Given the description of an element on the screen output the (x, y) to click on. 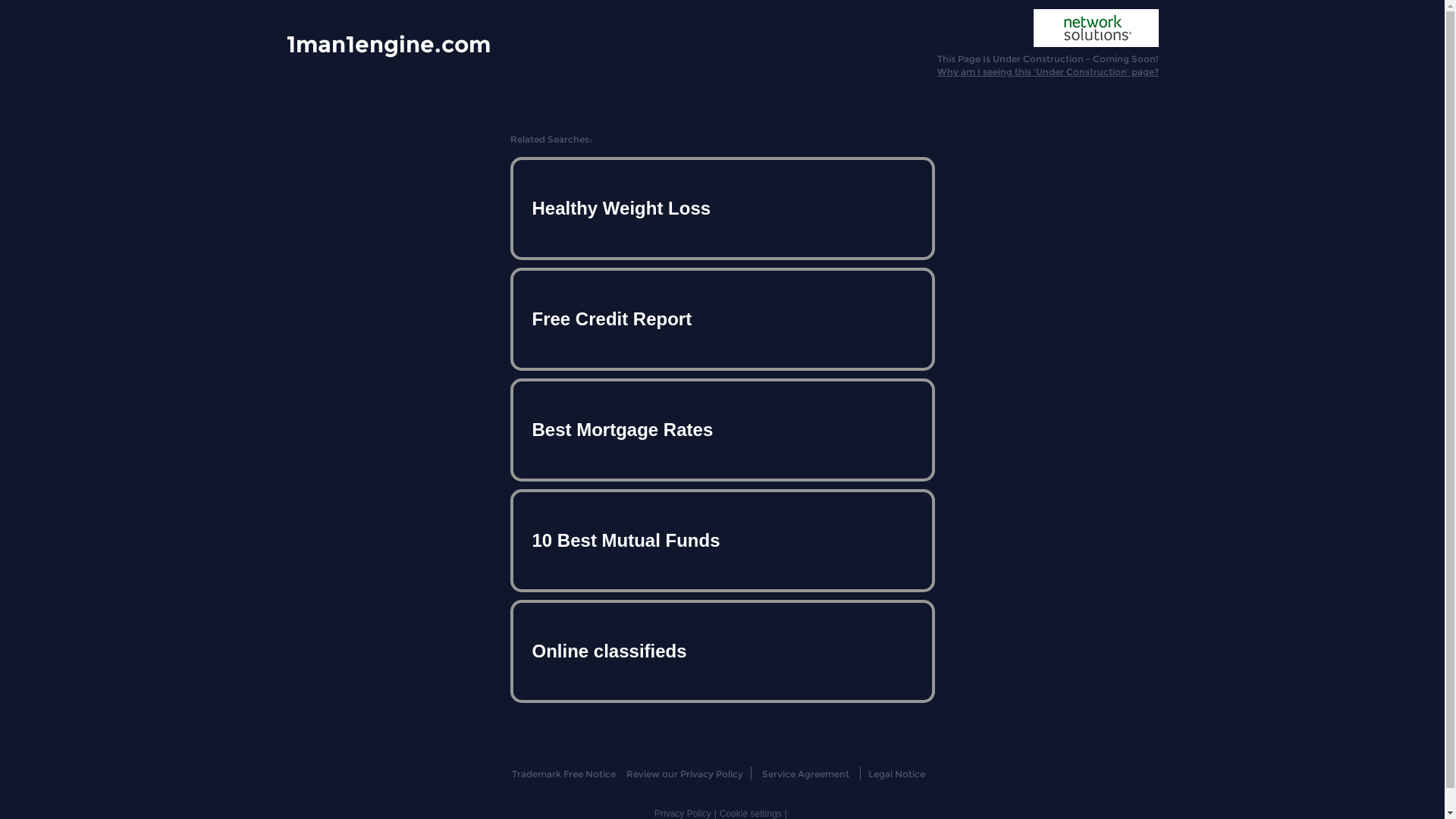
1man1engine.com Element type: text (388, 43)
Online classifieds Element type: text (721, 650)
Best Mortgage Rates Element type: text (721, 429)
Legal Notice Element type: text (896, 773)
Service Agreement Element type: text (805, 773)
Review our Privacy Policy Element type: text (684, 773)
Trademark Free Notice Element type: text (563, 773)
Free Credit Report Element type: text (721, 318)
10 Best Mutual Funds Element type: text (721, 540)
Why am I seeing this 'Under Construction' page? Element type: text (1047, 71)
Healthy Weight Loss Element type: text (721, 208)
